Given the description of an element on the screen output the (x, y) to click on. 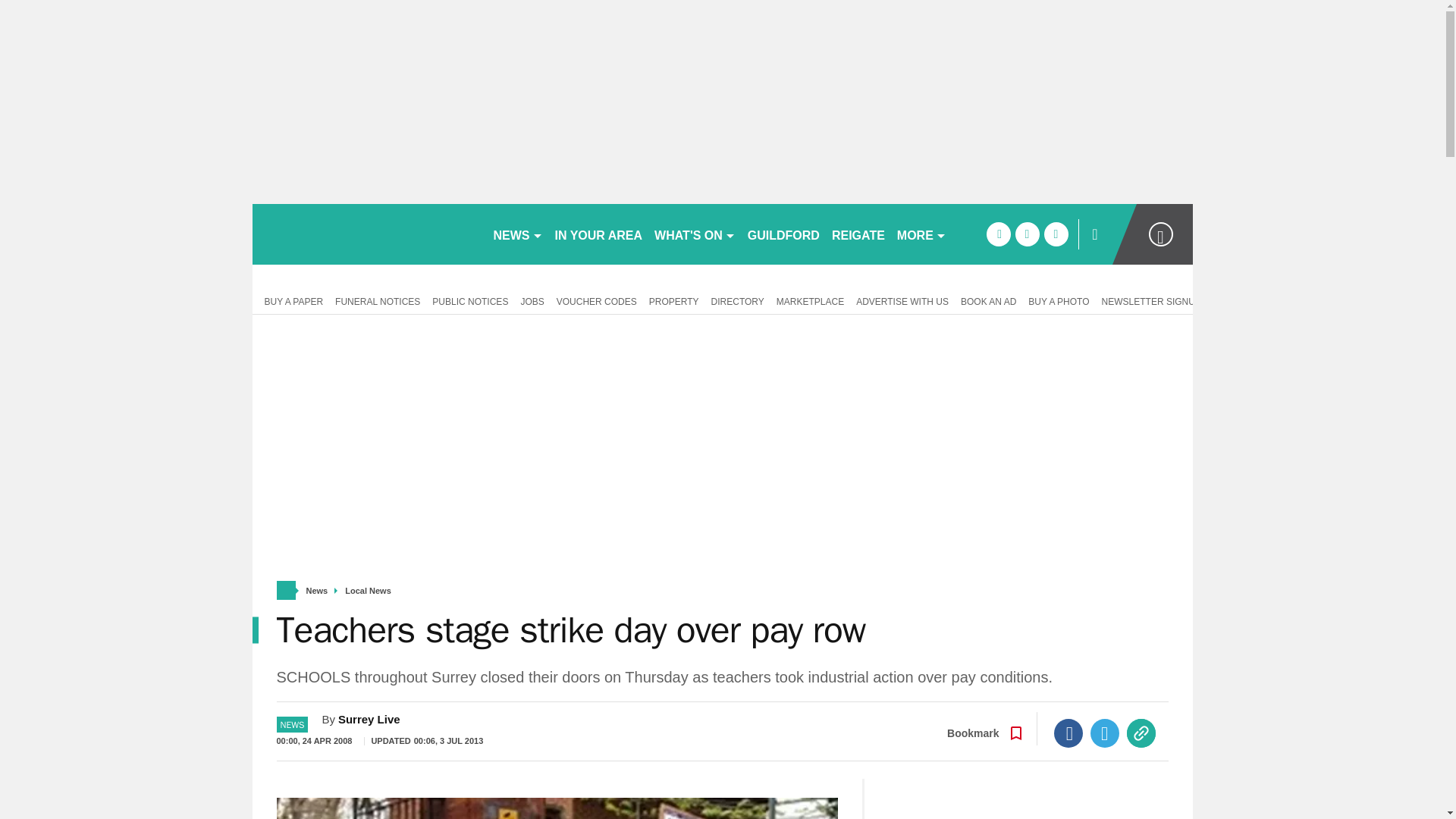
instagram (1055, 233)
PUBLIC NOTICES (469, 300)
FUNERAL NOTICES (377, 300)
Twitter (1104, 733)
getsurrey (365, 233)
VOUCHER CODES (596, 300)
Facebook (1068, 733)
GUILDFORD (783, 233)
REIGATE (858, 233)
WHAT'S ON (694, 233)
NEWS (517, 233)
facebook (997, 233)
PROPERTY (673, 300)
JOBS (531, 300)
BUY A PAPER (290, 300)
